Given the description of an element on the screen output the (x, y) to click on. 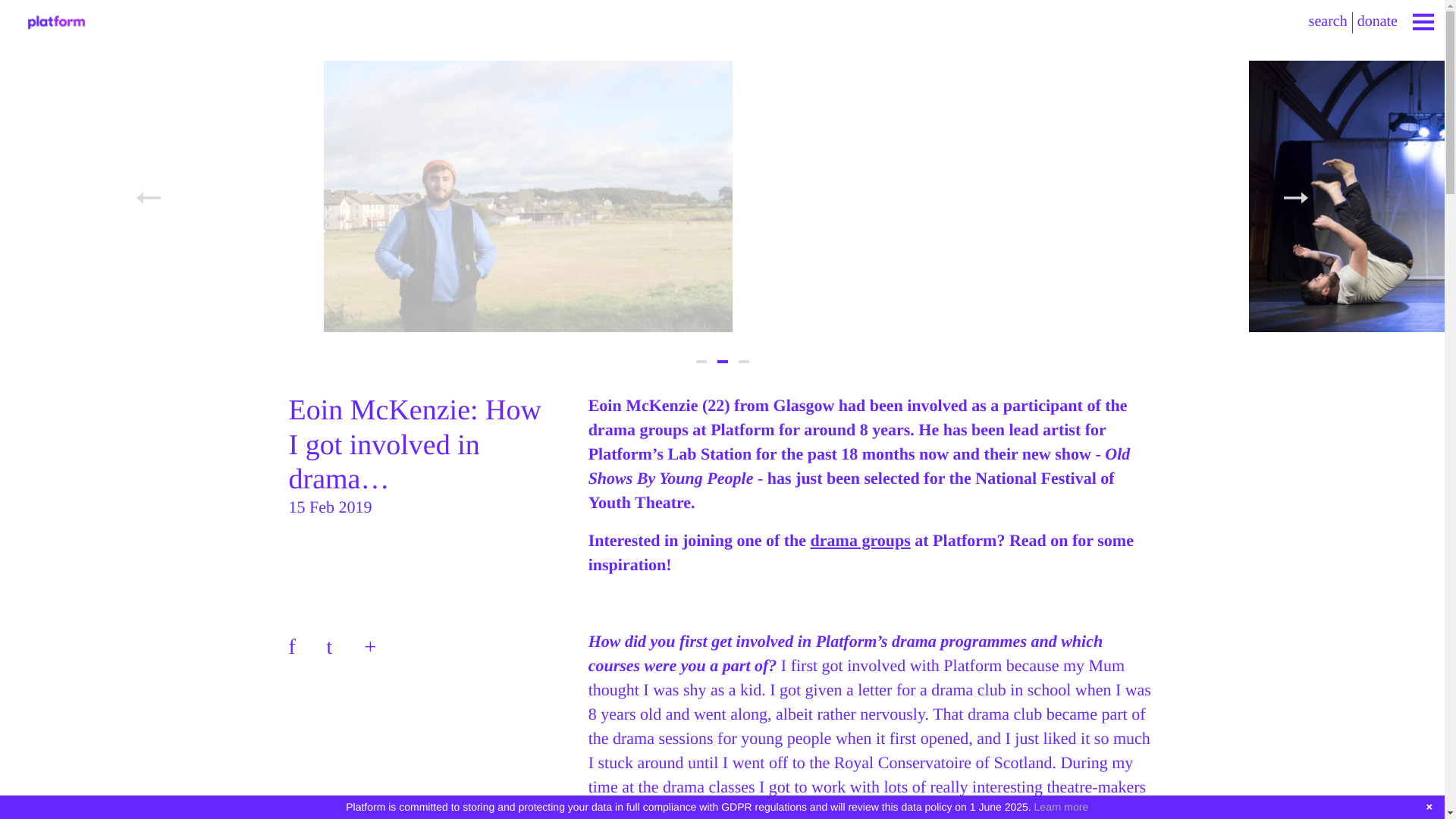
drama groups (860, 539)
3 (743, 361)
1 (700, 361)
donate (1376, 21)
Platform: Home (56, 22)
2 (722, 361)
